Given the description of an element on the screen output the (x, y) to click on. 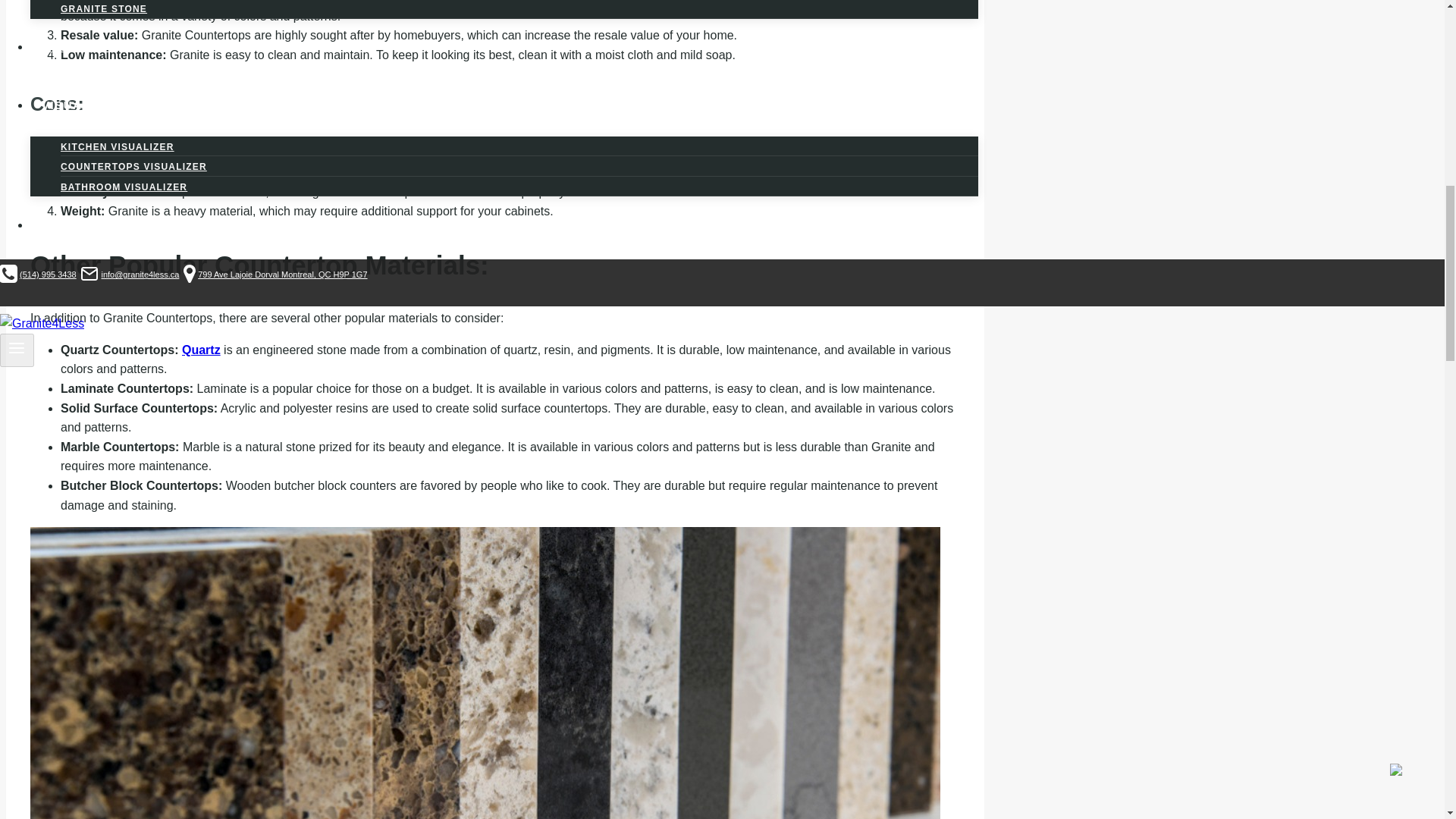
GRANITE STONE (104, 11)
CONTACT (504, 224)
COUNTERTOPS VISUALIZER (504, 105)
KITCHEN VISUALIZER (133, 166)
Email (117, 146)
QUARTZ STONE (89, 273)
EXPAND (101, 1)
Toggle Menu (138, 103)
GALLERY (16, 348)
